Given the description of an element on the screen output the (x, y) to click on. 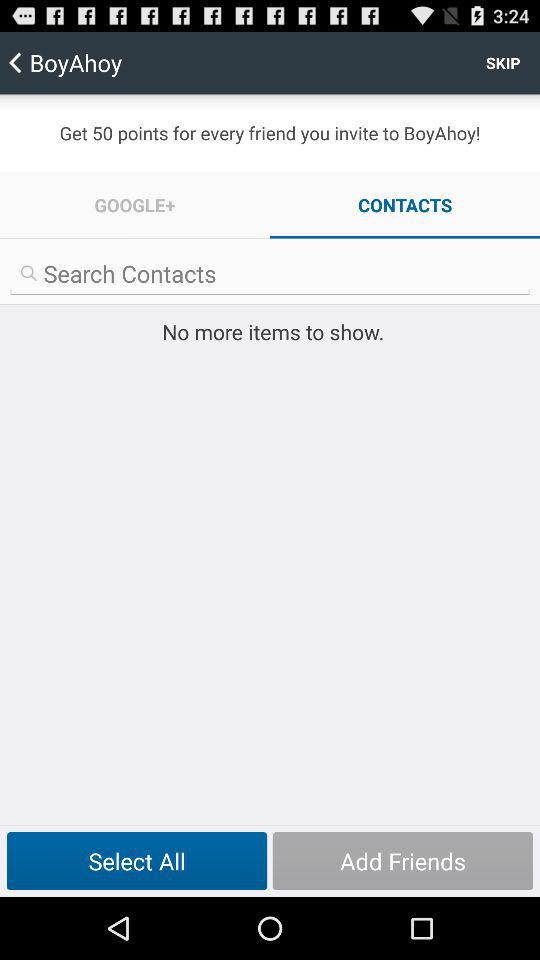
turn off the icon below the get 50 points app (135, 204)
